Given the description of an element on the screen output the (x, y) to click on. 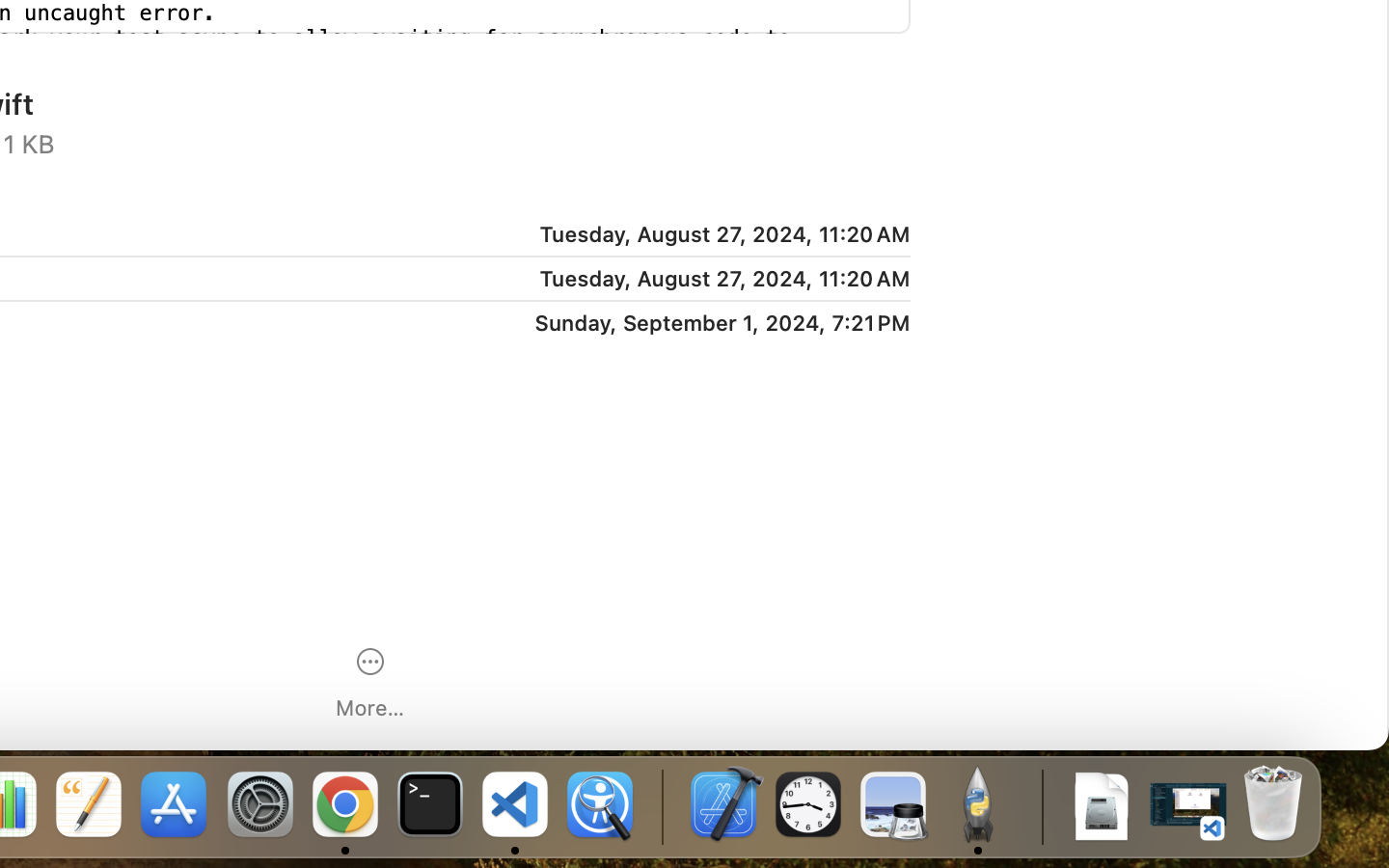
0.4285714328289032 Element type: AXDockItem (660, 805)
